Given the description of an element on the screen output the (x, y) to click on. 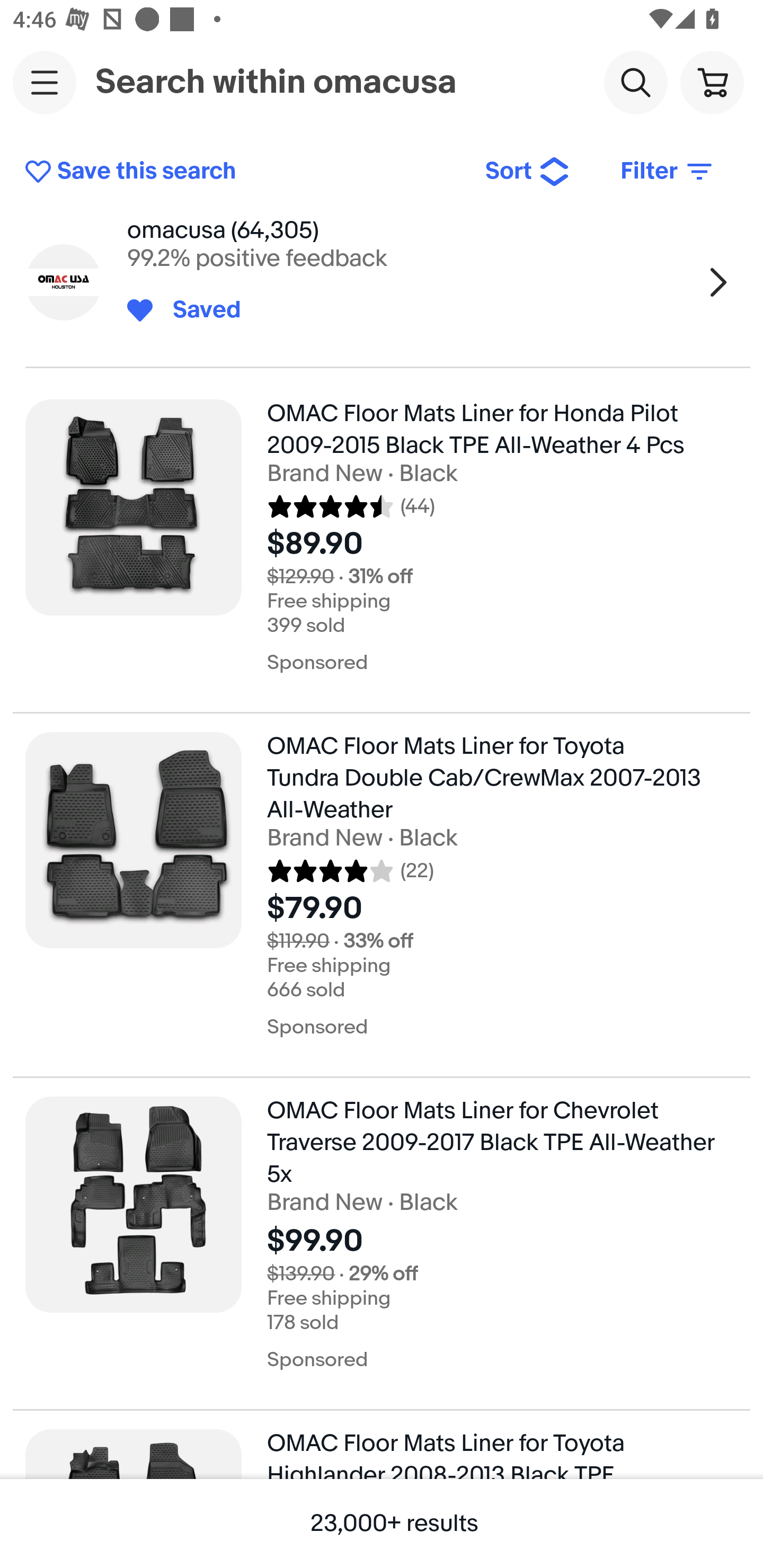
Main navigation, open (44, 82)
Search (635, 81)
Cart button shopping cart (711, 81)
Save this search (241, 171)
Sort (527, 171)
Filter (667, 171)
omacusa (64,305) 99.2% positive feedback Saved (381, 282)
Saved (197, 310)
